Given the description of an element on the screen output the (x, y) to click on. 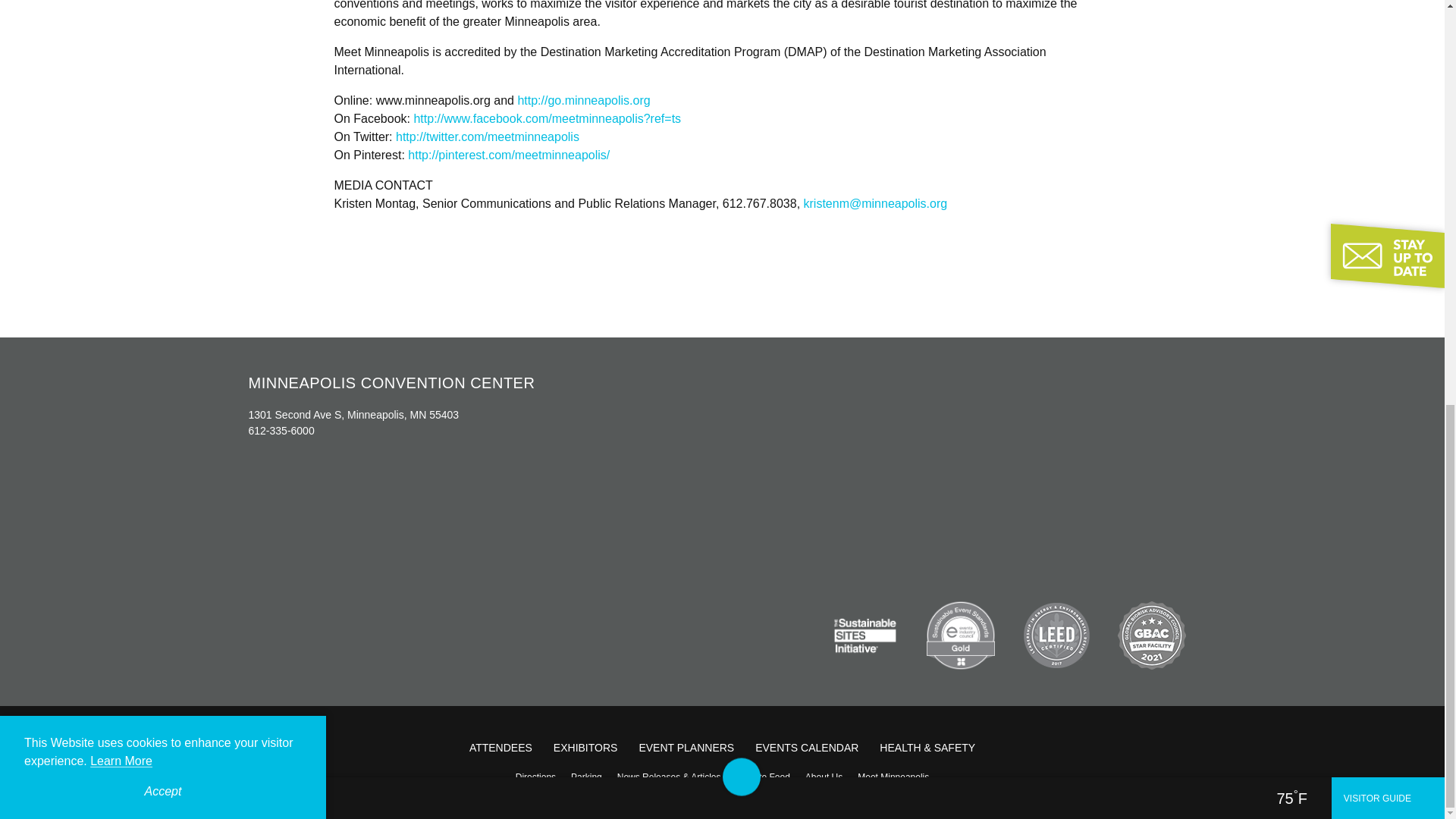
Go to Sustainable SITES (865, 635)
Go to events council (960, 635)
Directions (535, 776)
EXHIBITORS (585, 747)
Parking (586, 776)
EVENT PLANNERS (685, 747)
Go to Leed Certified (1056, 635)
Go to GBAC Start Accreditation (1152, 635)
EVENTS CALENDAR (806, 747)
About Us (823, 776)
ATTENDEES (500, 747)
On-Site Food (762, 776)
